Given the description of an element on the screen output the (x, y) to click on. 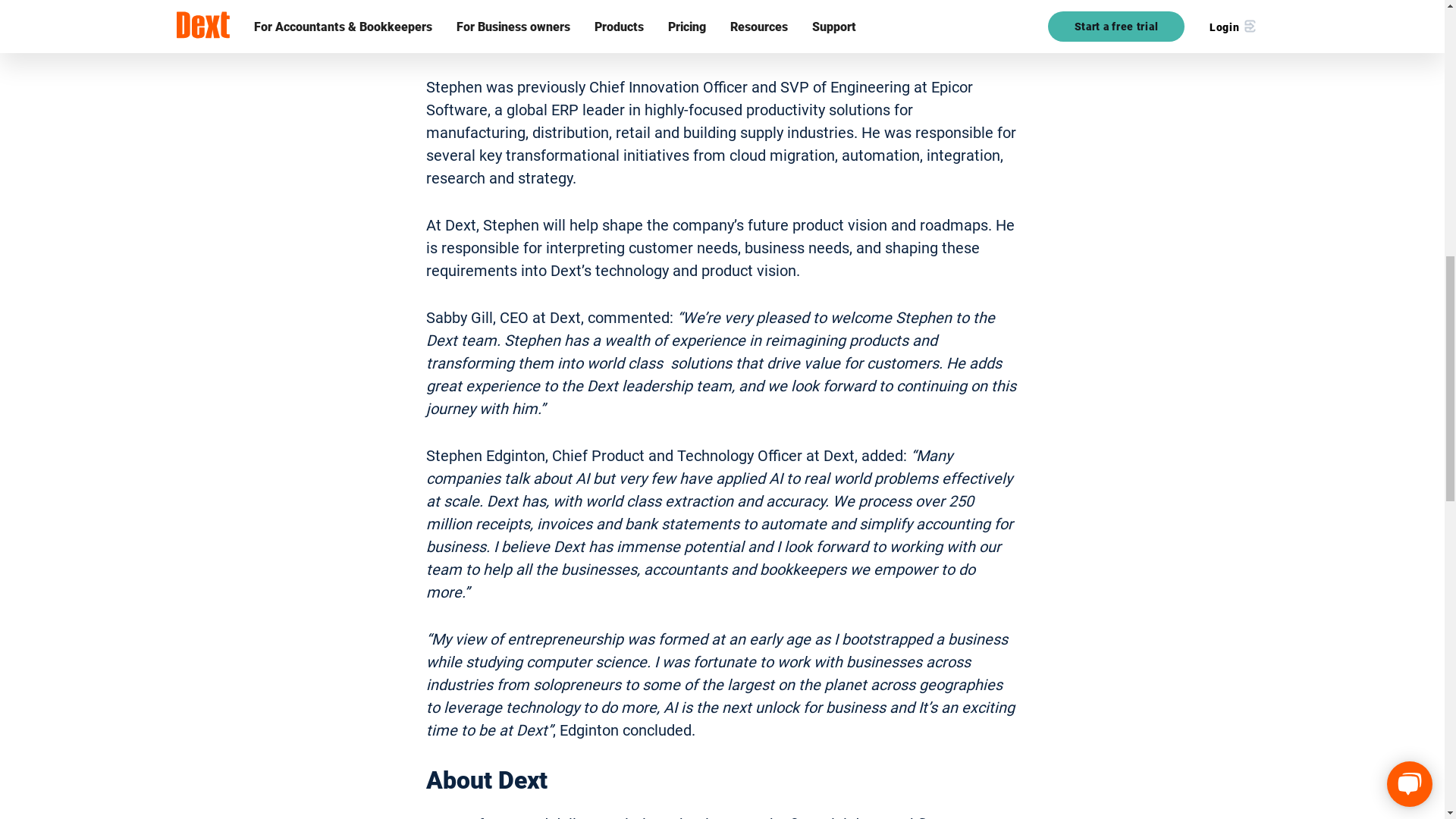
Dext (441, 2)
